Given the description of an element on the screen output the (x, y) to click on. 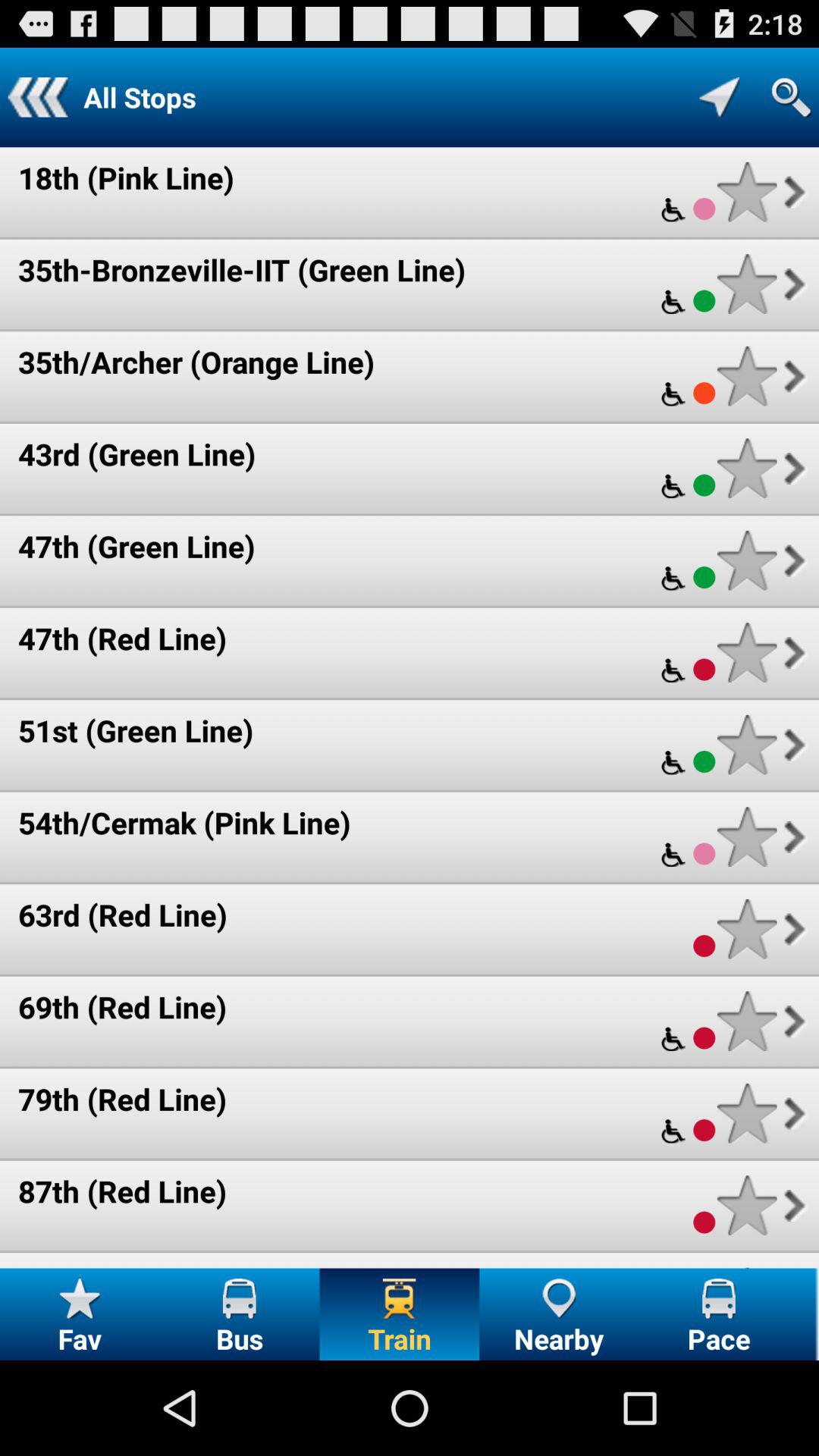
launch 63rd (red line) app (122, 914)
